Given the description of an element on the screen output the (x, y) to click on. 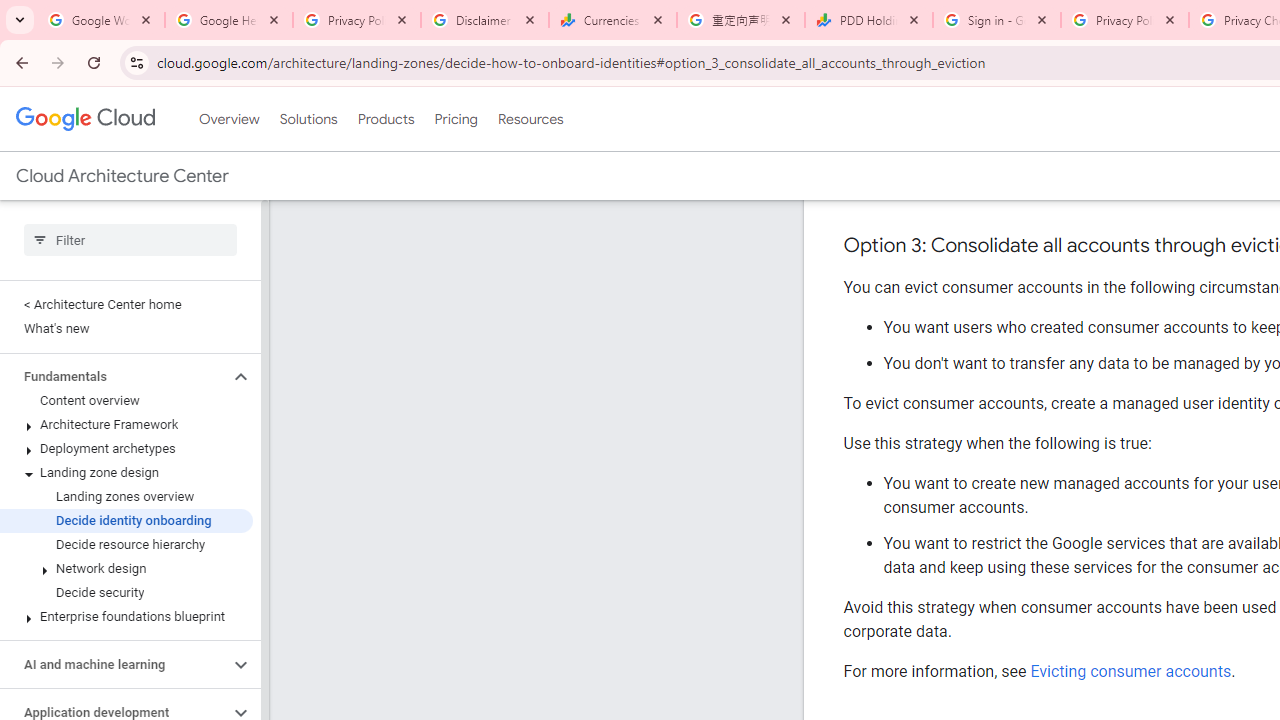
Deployment archetypes (126, 448)
Landing zones overview (126, 497)
< Architecture Center home (126, 304)
Landing zone design (126, 472)
Cloud Architecture Center (122, 175)
Fundamentals (114, 376)
Products (385, 119)
Network design (126, 569)
View site information (136, 62)
